Given the description of an element on the screen output the (x, y) to click on. 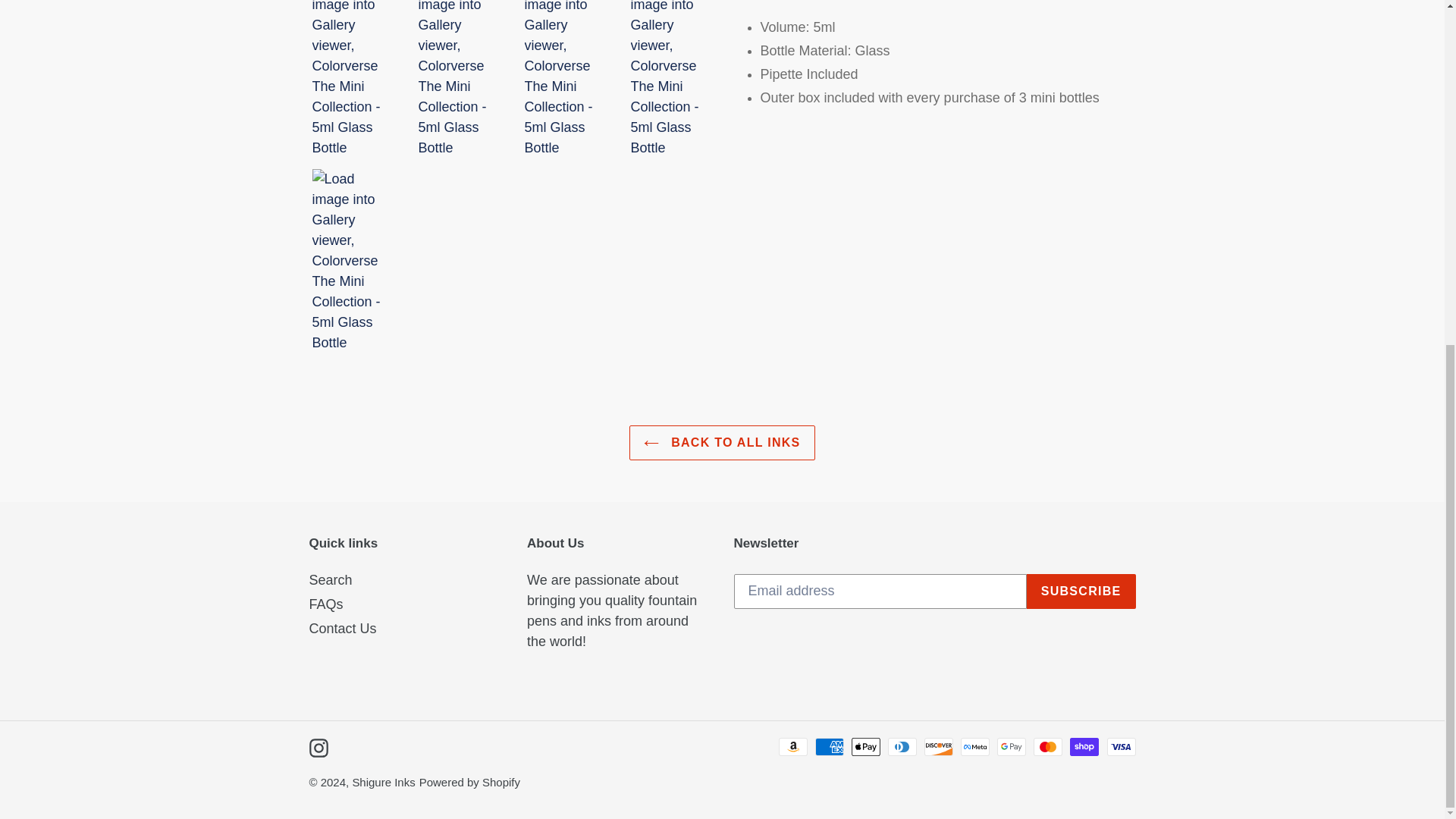
BACK TO ALL INKS (720, 442)
Search (330, 580)
FAQs (325, 604)
